Given the description of an element on the screen output the (x, y) to click on. 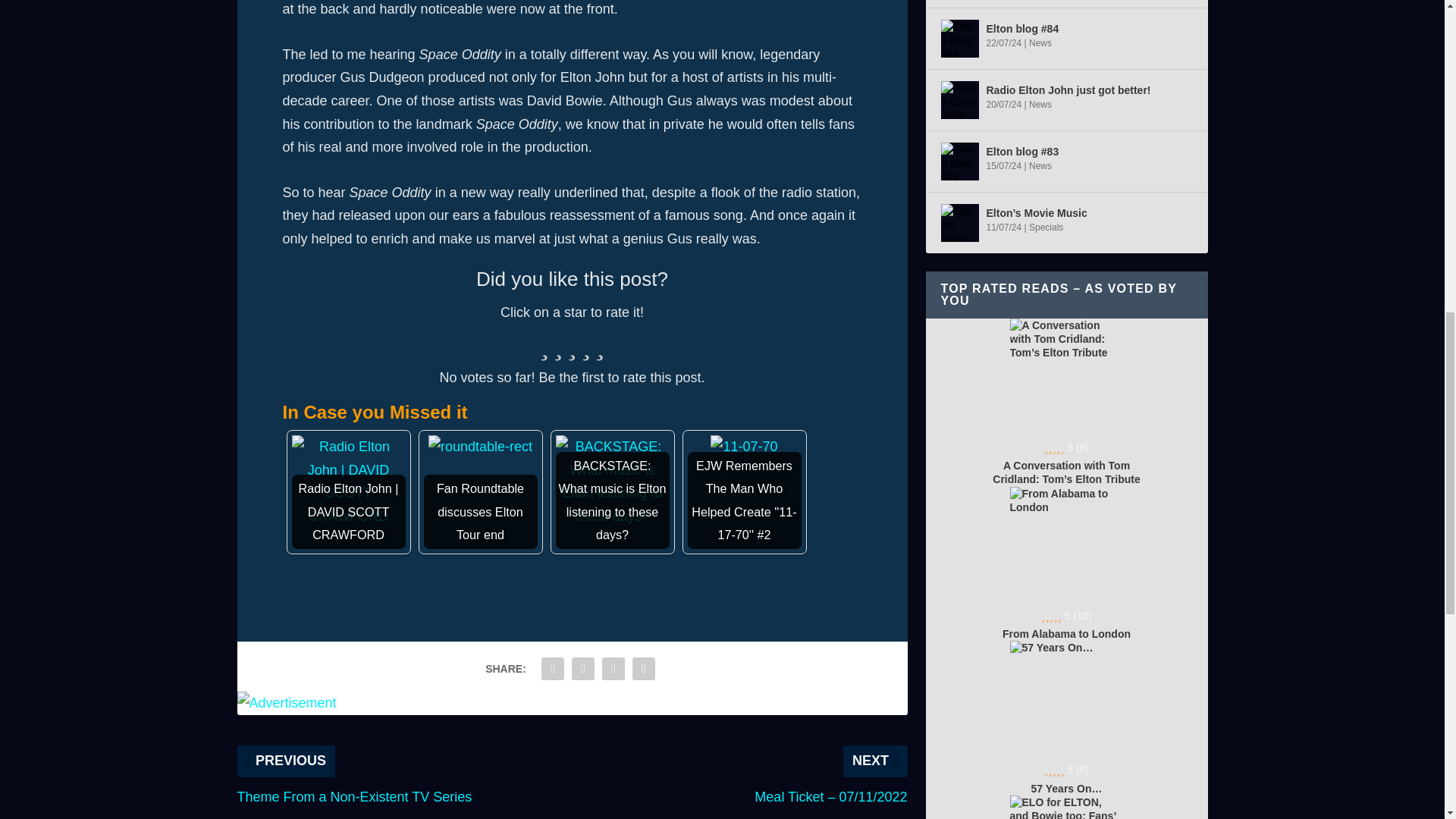
Fan Roundtable discusses Elton Tour end (480, 491)
BACKSTAGE: What music is Elton listening to these days? (611, 491)
Fan Roundtable discusses Elton Tour end (480, 446)
Share "Hearing Gus back to front" via Facebook (552, 668)
BACKSTAGE: What music is Elton listening to these days? (611, 480)
